Given the description of an element on the screen output the (x, y) to click on. 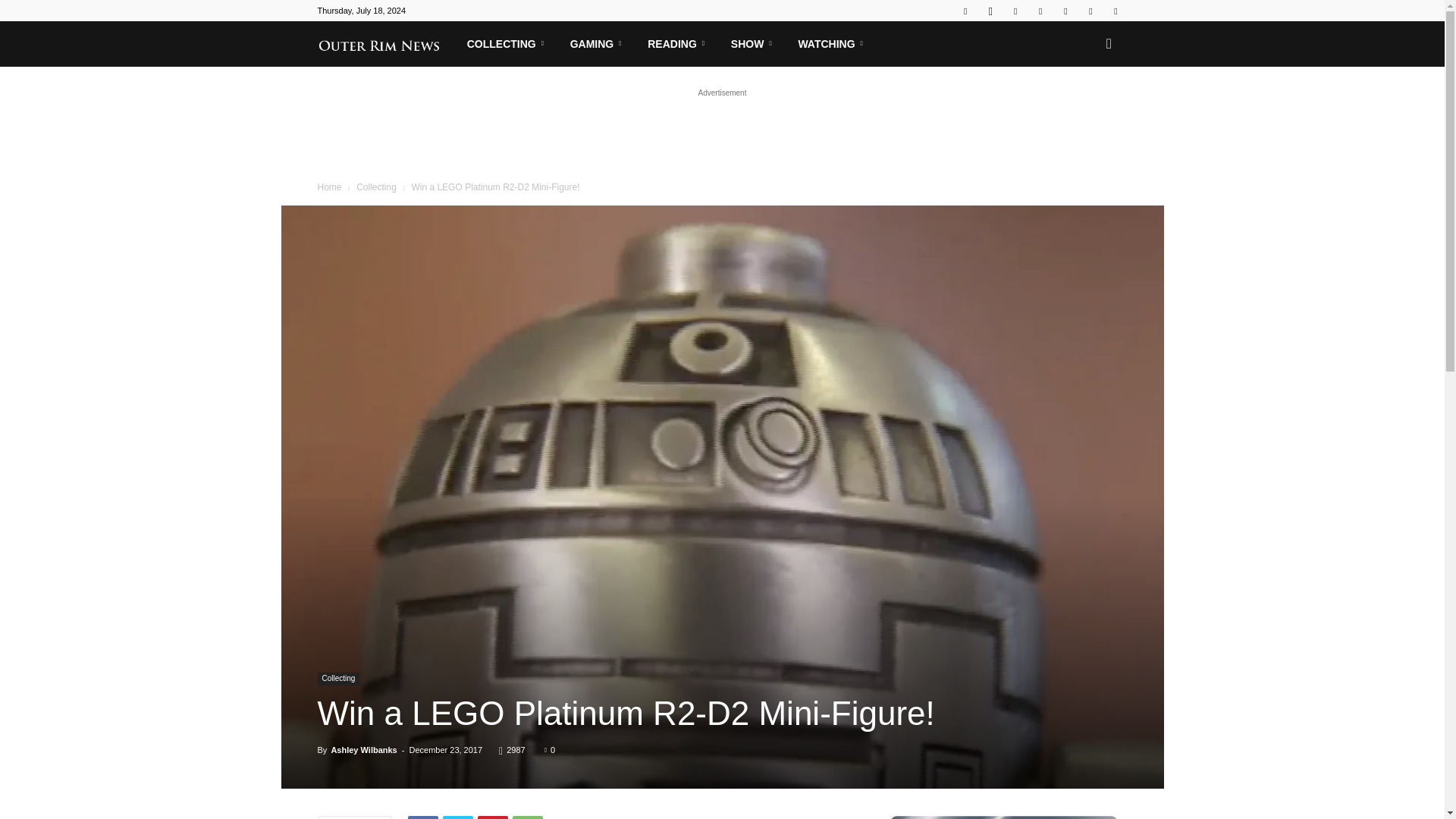
Outer Rim News (386, 43)
Instagram (989, 10)
COLLECTING (508, 43)
Mail (1015, 10)
Pinterest (1040, 10)
Tumblr (1065, 10)
Facebook (964, 10)
